Given the description of an element on the screen output the (x, y) to click on. 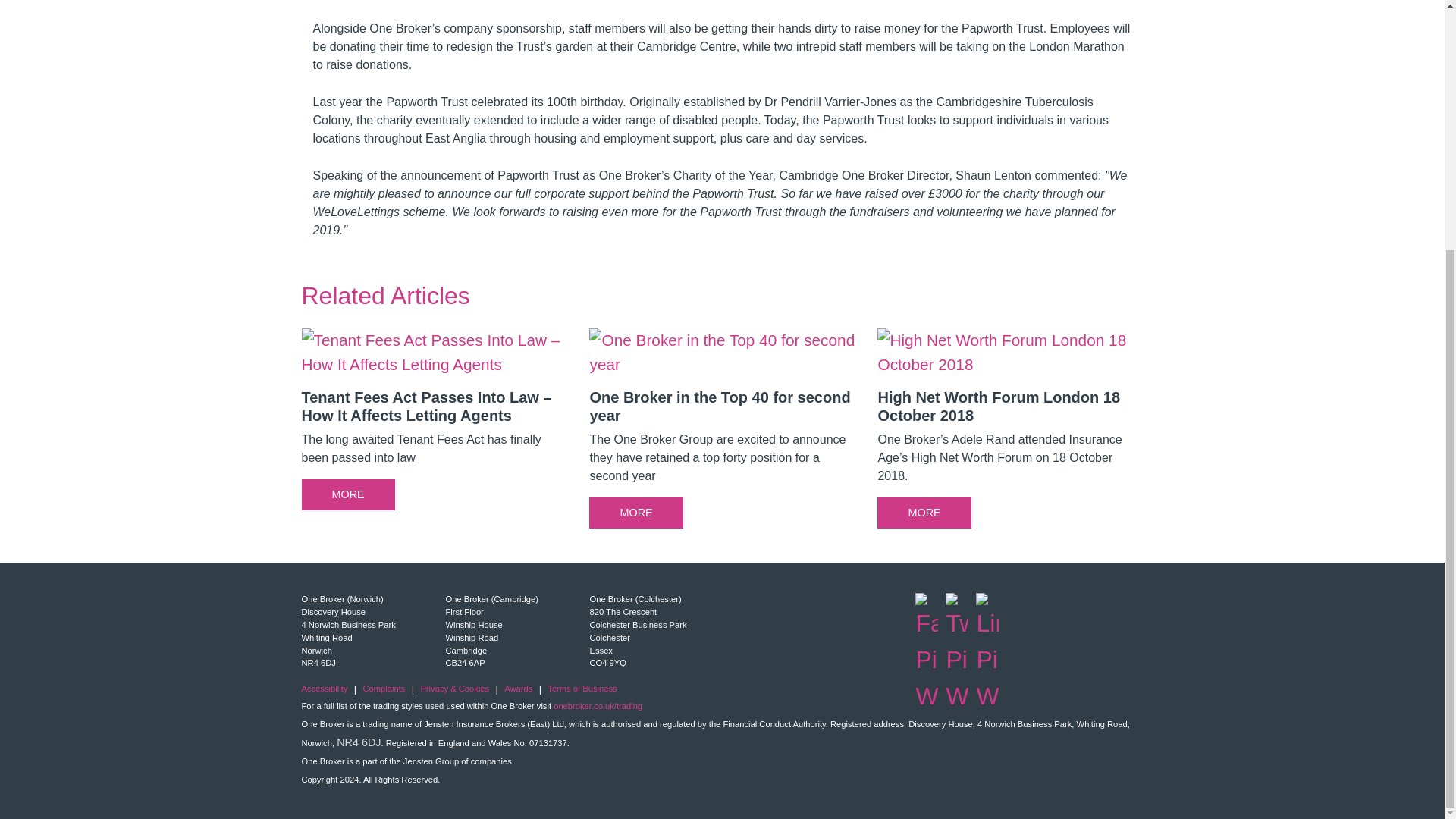
One Broker in the Top 40 for second year (721, 433)
Trading styles (597, 705)
High Net Worth Forum London 18 October 2018 (1009, 433)
